Given the description of an element on the screen output the (x, y) to click on. 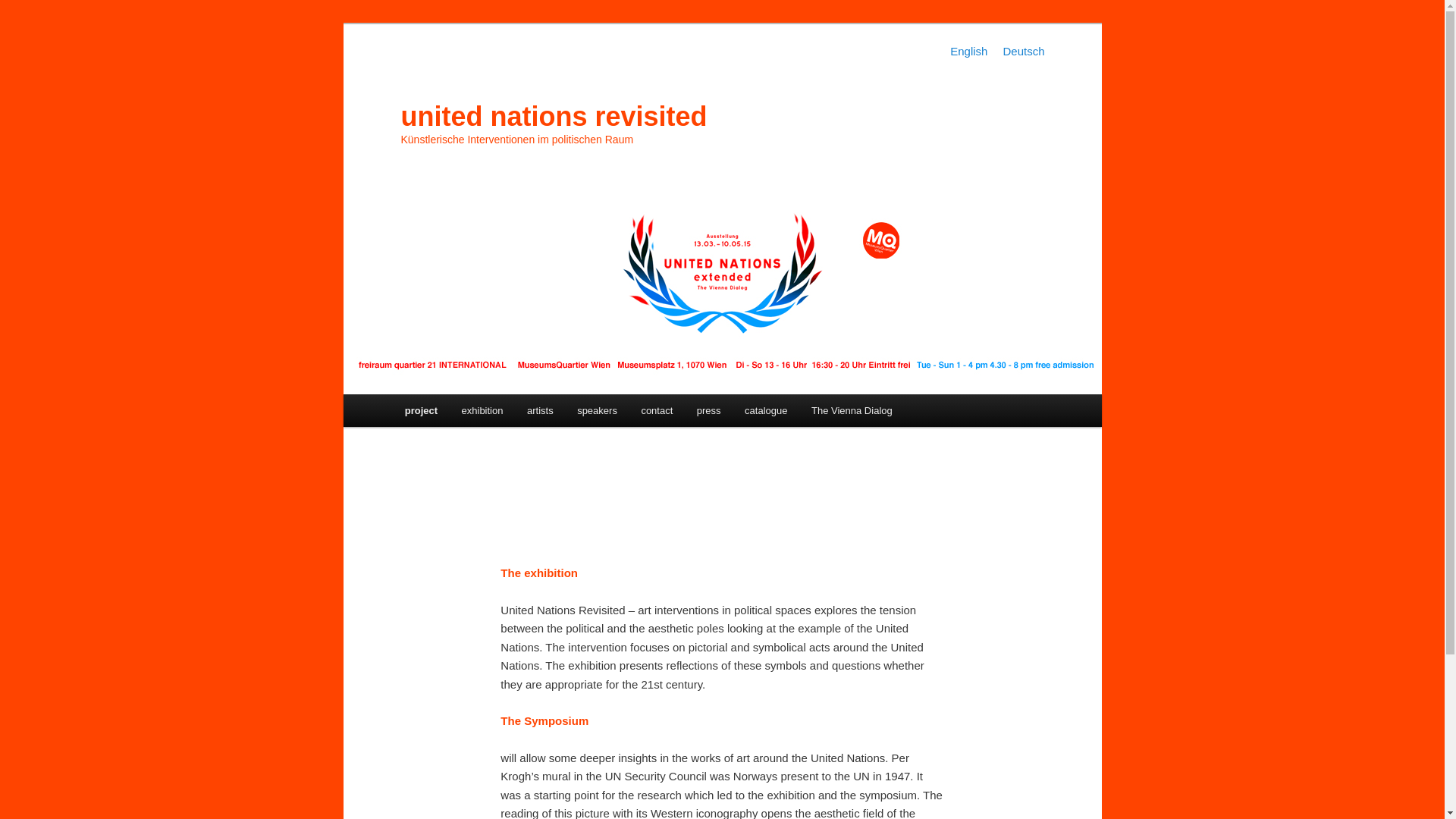
Skip to secondary content (479, 412)
project (421, 409)
artists (539, 409)
exhibition (482, 409)
Skip to primary content (472, 412)
The Vienna Dialog (851, 409)
Deutsch (1023, 51)
Skip to secondary content (479, 412)
Skip to primary content (472, 412)
united nations revisited (553, 115)
English (968, 51)
contact (656, 409)
Deutsch (1023, 51)
catalogue (765, 409)
